Given the description of an element on the screen output the (x, y) to click on. 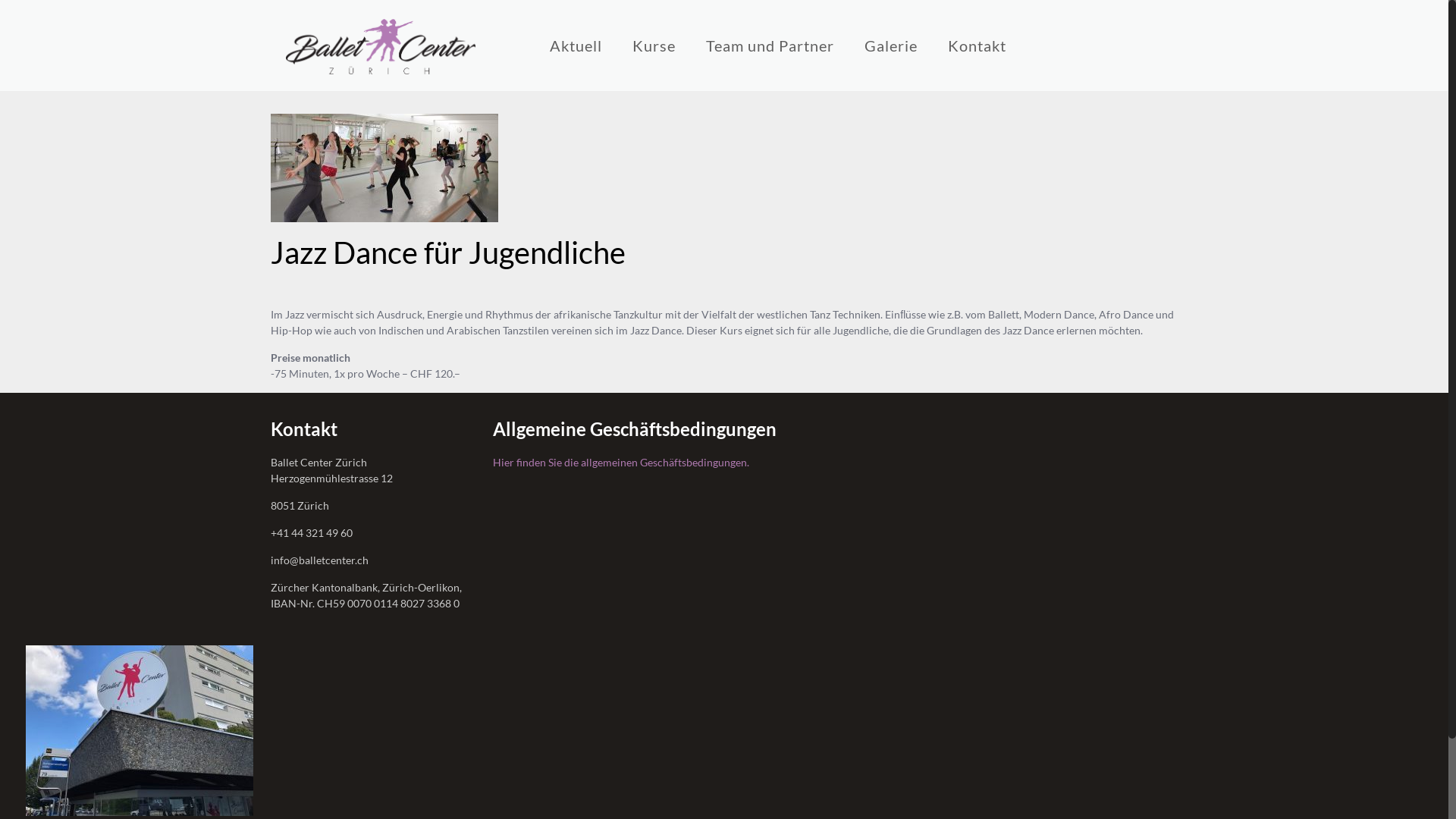
Aktuell Element type: text (575, 45)
Kurse Element type: text (653, 45)
Galerie Element type: text (890, 45)
Team und Partner Element type: text (769, 45)
Kontakt Element type: text (976, 45)
